Given the description of an element on the screen output the (x, y) to click on. 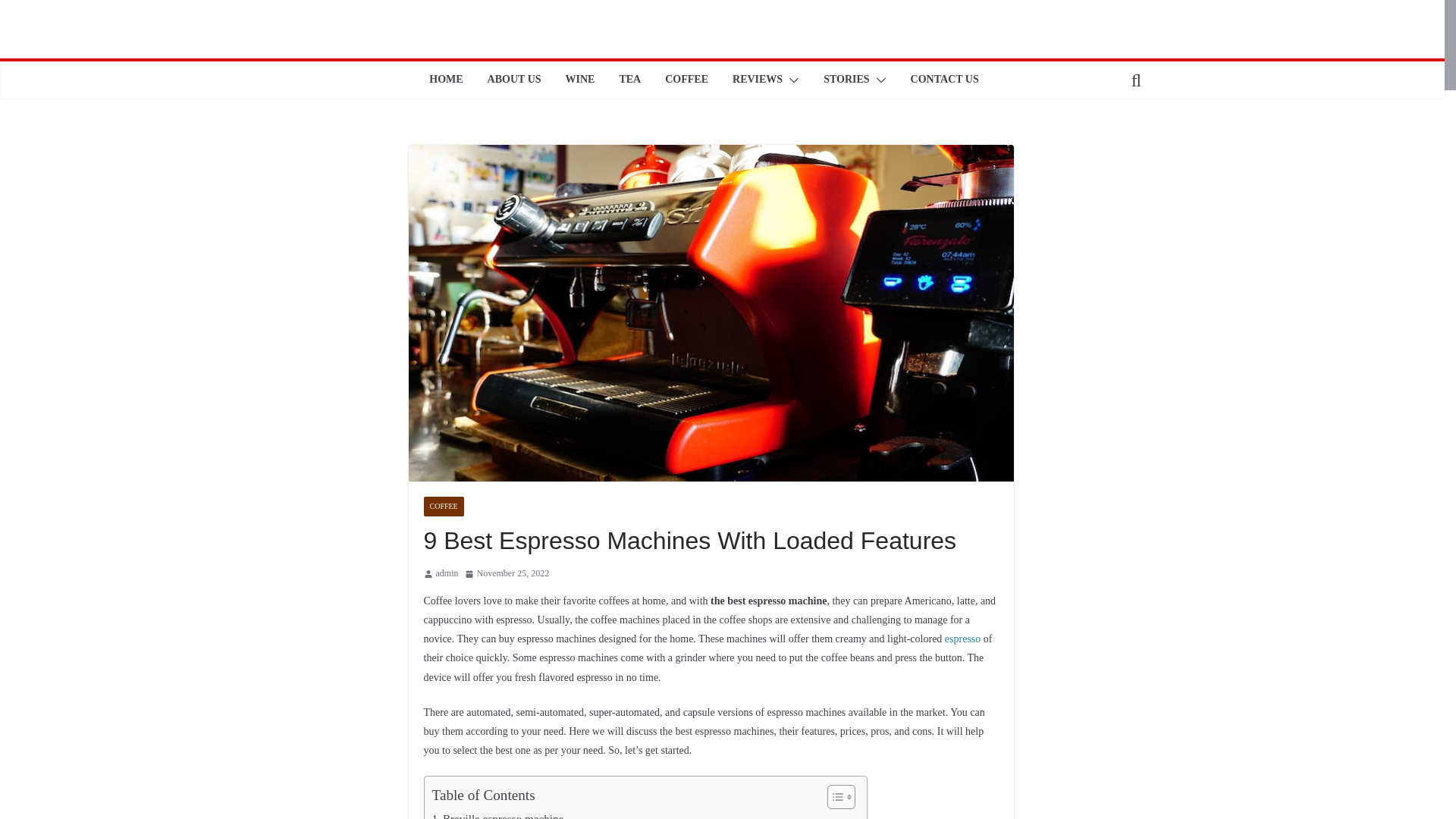
COFFEE (686, 79)
REVIEWS (757, 79)
CONTACT US (944, 79)
ABOUT US (514, 79)
WINE (580, 79)
COFFEE (443, 506)
TEA (629, 79)
HOME (446, 79)
STORIES (846, 79)
